Given the description of an element on the screen output the (x, y) to click on. 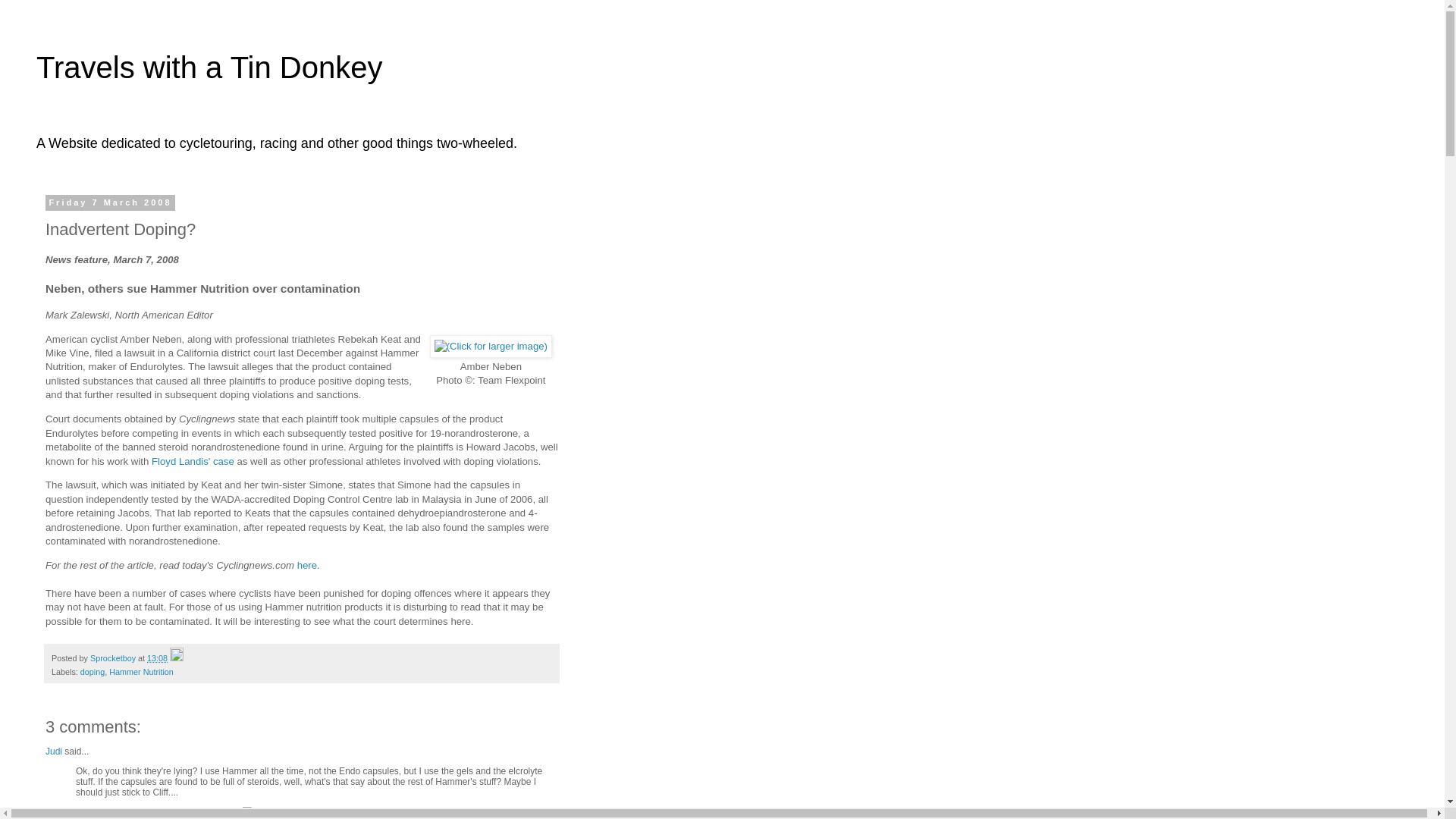
Hammer Nutrition (141, 671)
Travels with a Tin Donkey (208, 67)
Floyd Landis' case (192, 460)
Delete Comment (248, 814)
Judi (53, 751)
doping (92, 671)
permanent link (157, 657)
comment permalink (159, 814)
author profile (114, 657)
Sprocketboy (114, 657)
here (307, 564)
Monday 17 March 2008 at 00:43:00 CET (159, 814)
Edit Post (176, 657)
13:08 (157, 657)
